Given the description of an element on the screen output the (x, y) to click on. 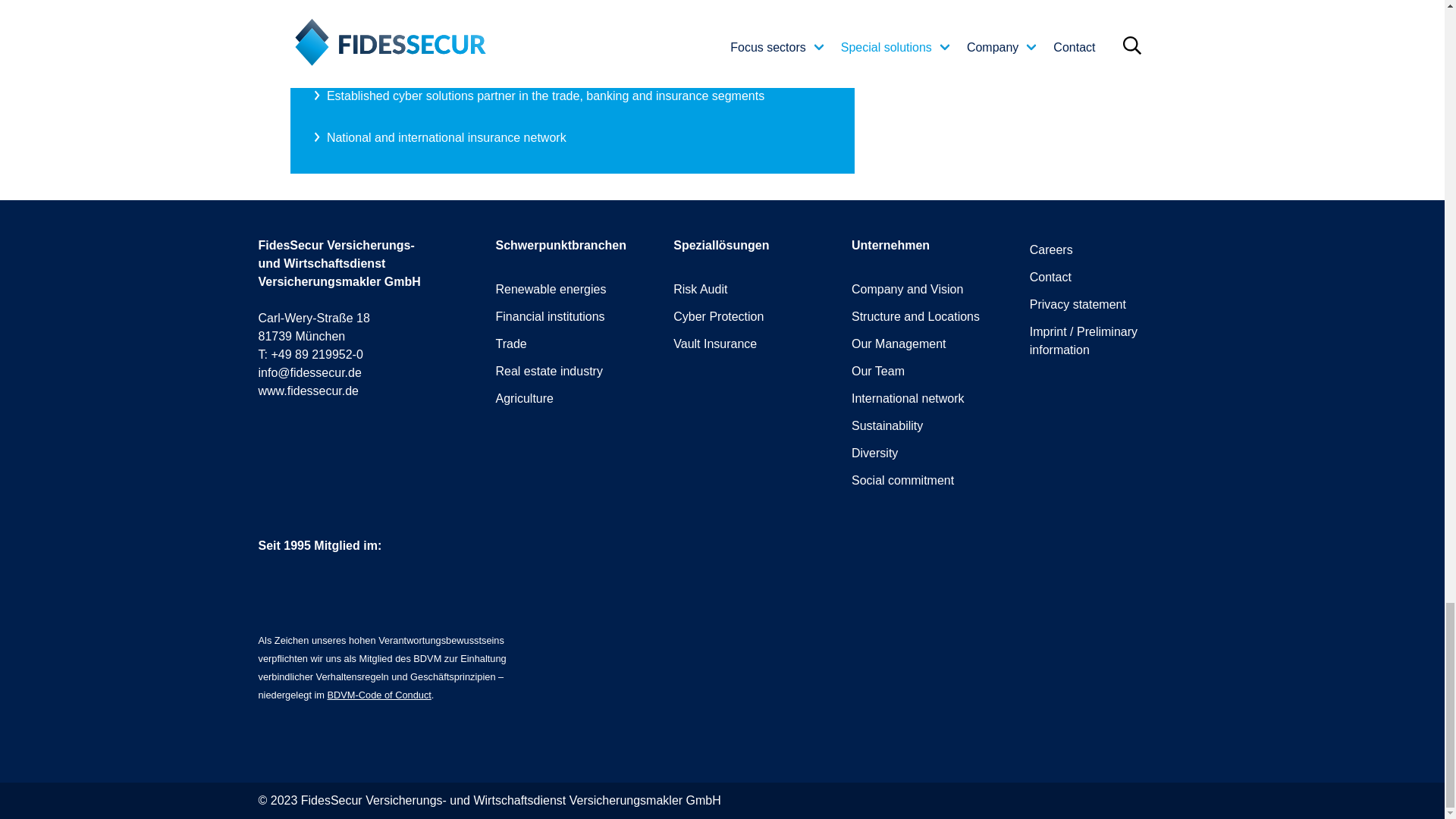
Agriculture (524, 398)
Cyber Protection (717, 316)
Real estate industry (549, 370)
Company and Vision (906, 288)
Renewable energies (551, 288)
Financial institutions (550, 316)
Vault Insurance (714, 343)
Structure and Locations (915, 316)
Risk Audit (699, 288)
Our Management (898, 343)
